Given the description of an element on the screen output the (x, y) to click on. 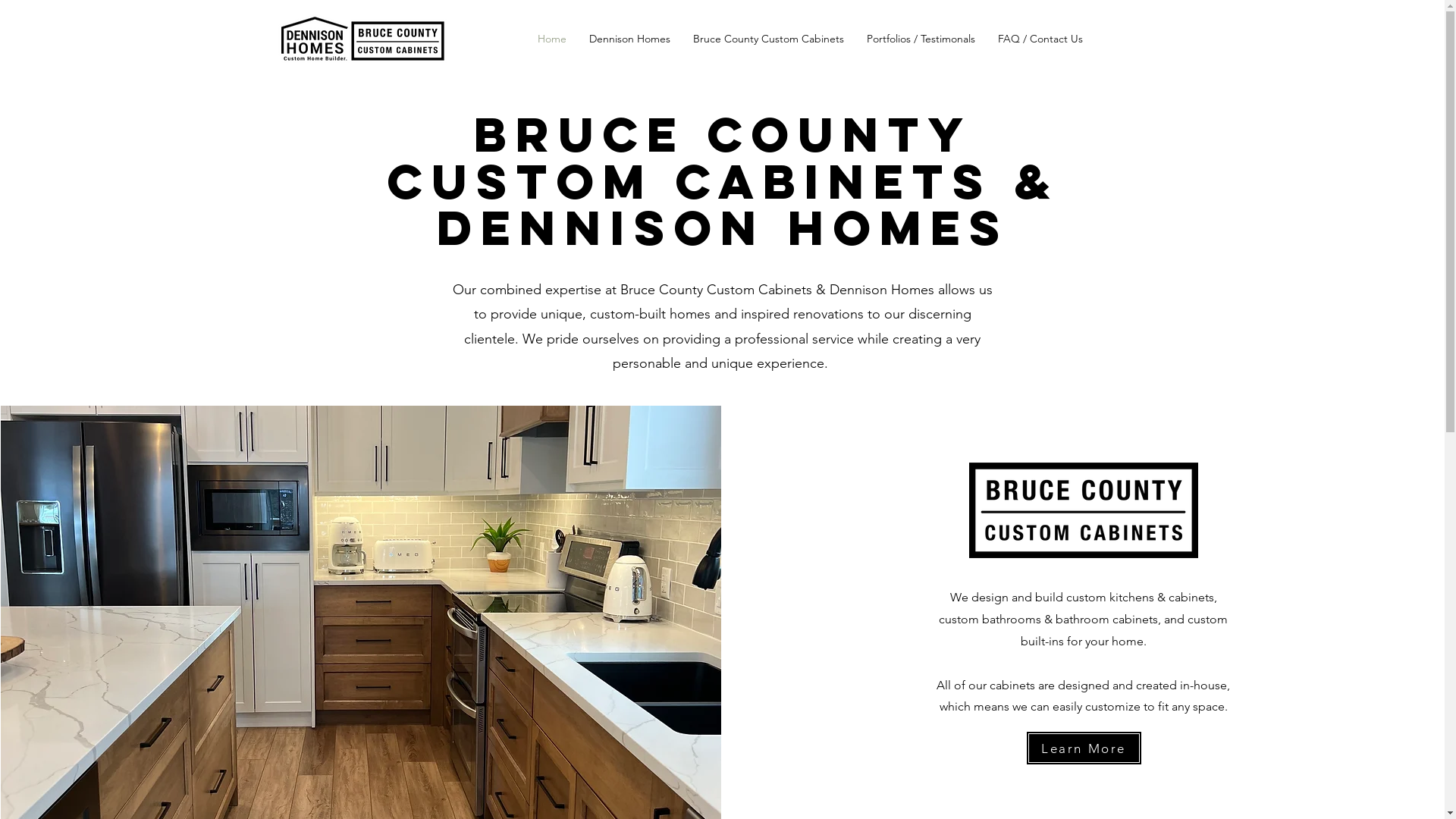
FAQ / Contact Us Element type: text (1039, 38)
Portfolios / Testimonals Element type: text (920, 38)
Dennison Homes Element type: text (629, 38)
Home Element type: text (551, 38)
Learn More Element type: text (1084, 748)
Bruce County Custom Cabinets Element type: text (767, 38)
